Given the description of an element on the screen output the (x, y) to click on. 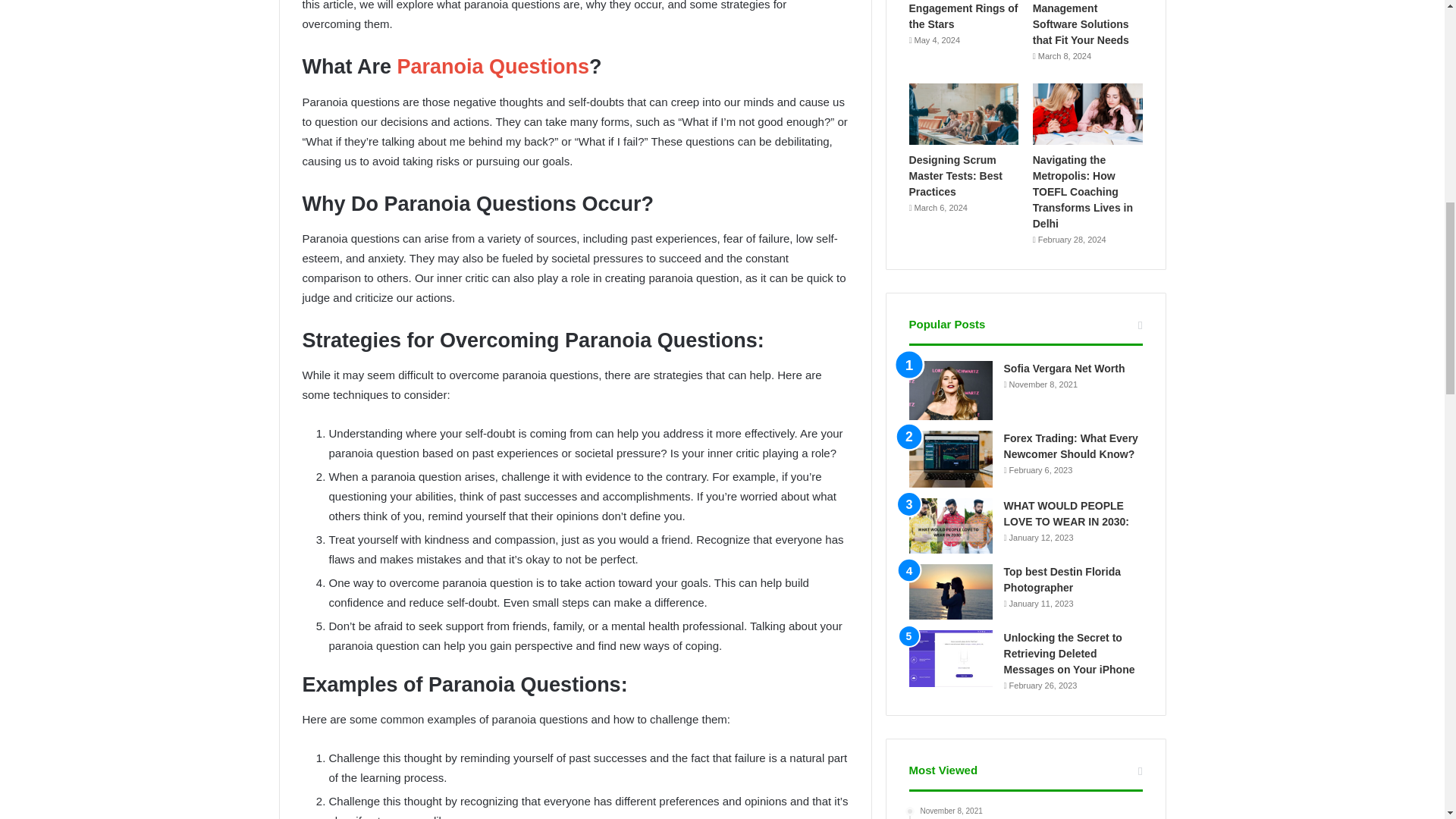
Paranoia Questions (493, 66)
